Given the description of an element on the screen output the (x, y) to click on. 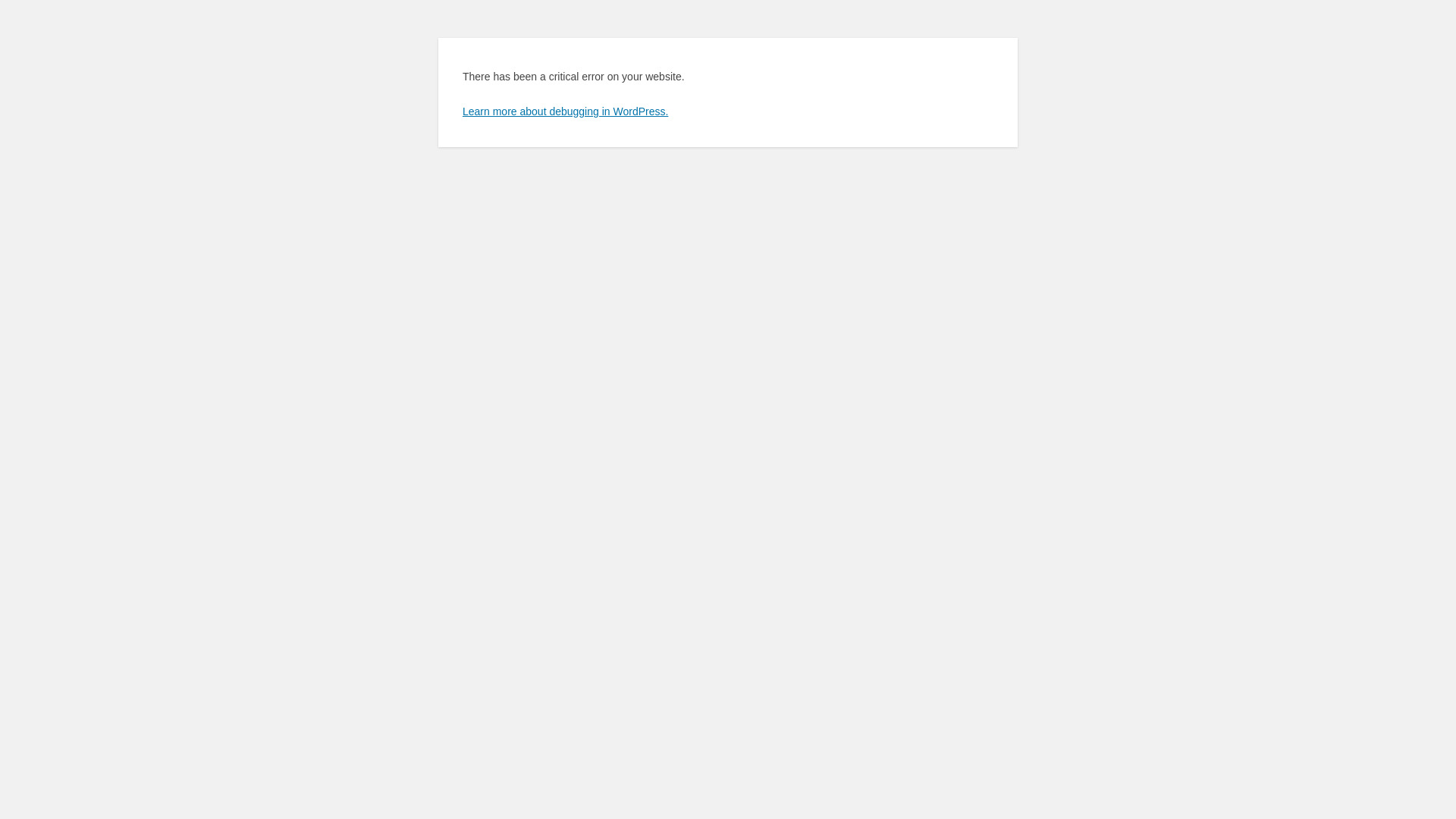
Learn more about debugging in WordPress. Element type: text (565, 111)
